Given the description of an element on the screen output the (x, y) to click on. 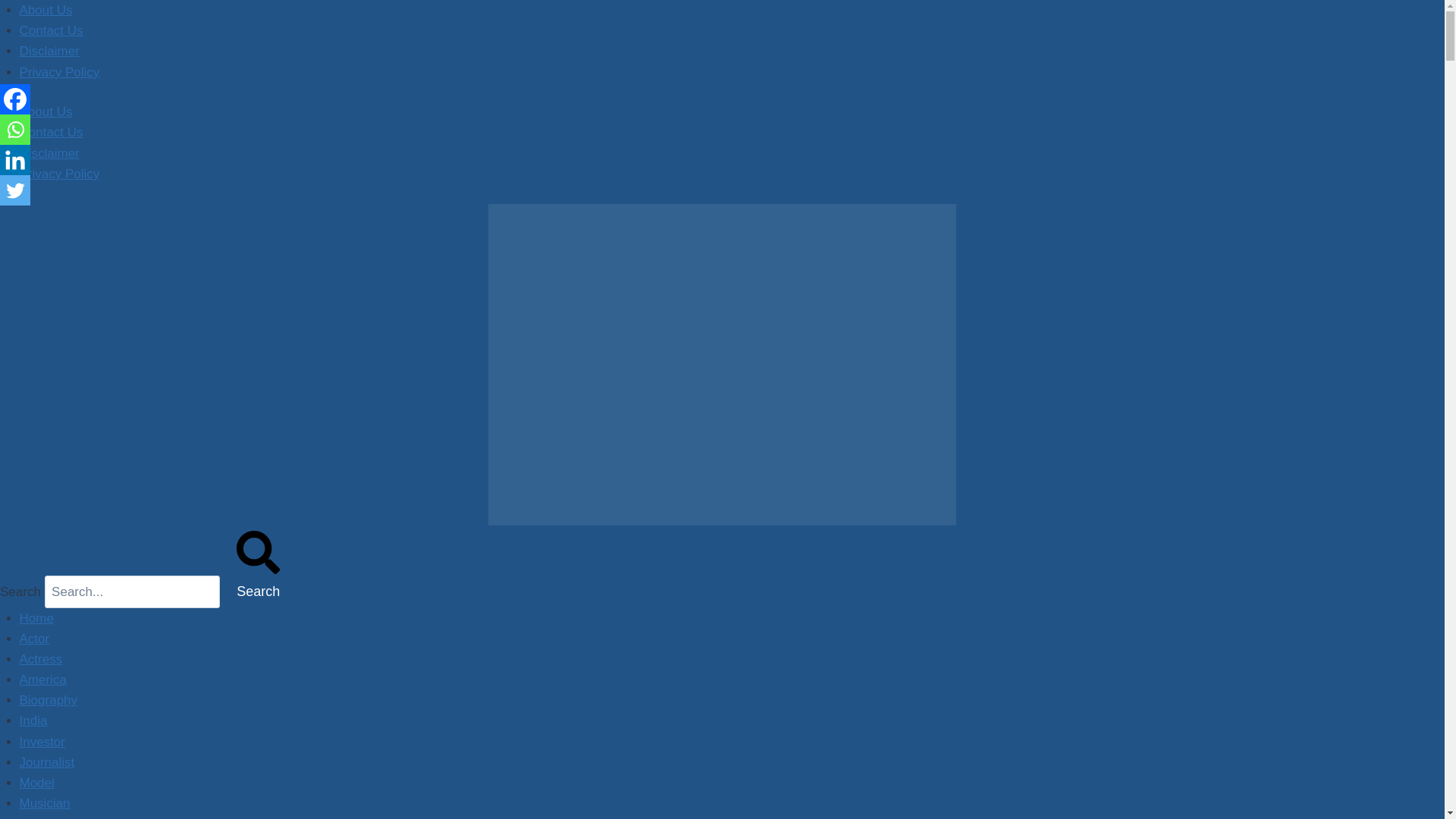
Disclaimer (50, 51)
Investor (42, 741)
About Us (46, 10)
Contact Us (51, 30)
Model (37, 782)
Contact Us (51, 132)
Others (39, 817)
Biography (49, 699)
India (34, 720)
Privacy Policy (60, 72)
America (43, 679)
Disclaimer (50, 153)
Musician (44, 803)
